Given the description of an element on the screen output the (x, y) to click on. 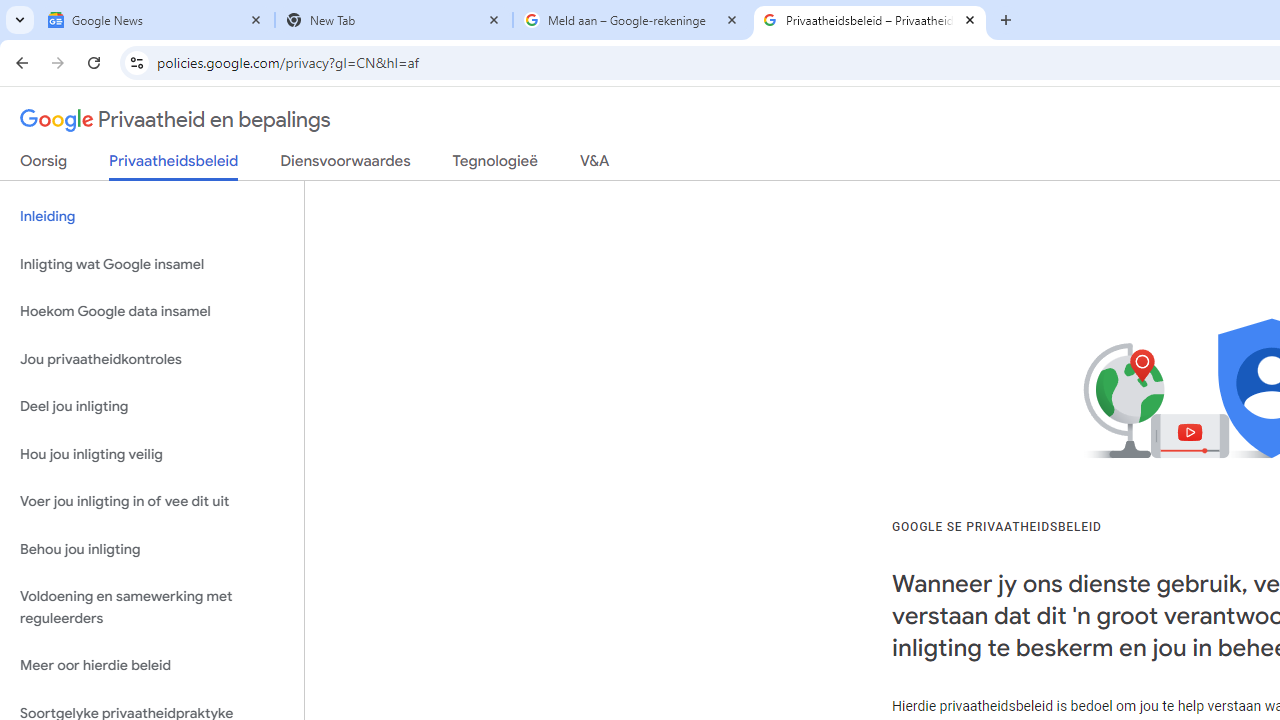
Voer jou inligting in of vee dit uit (152, 502)
Privaatheidsbeleid (173, 166)
Jou privaatheidkontroles (152, 358)
Hoekom Google data insamel (152, 312)
Inligting wat Google insamel (152, 263)
Hou jou inligting veilig (152, 453)
V&A (594, 165)
Behou jou inligting (152, 548)
Meer oor hierdie beleid (152, 666)
